Given the description of an element on the screen output the (x, y) to click on. 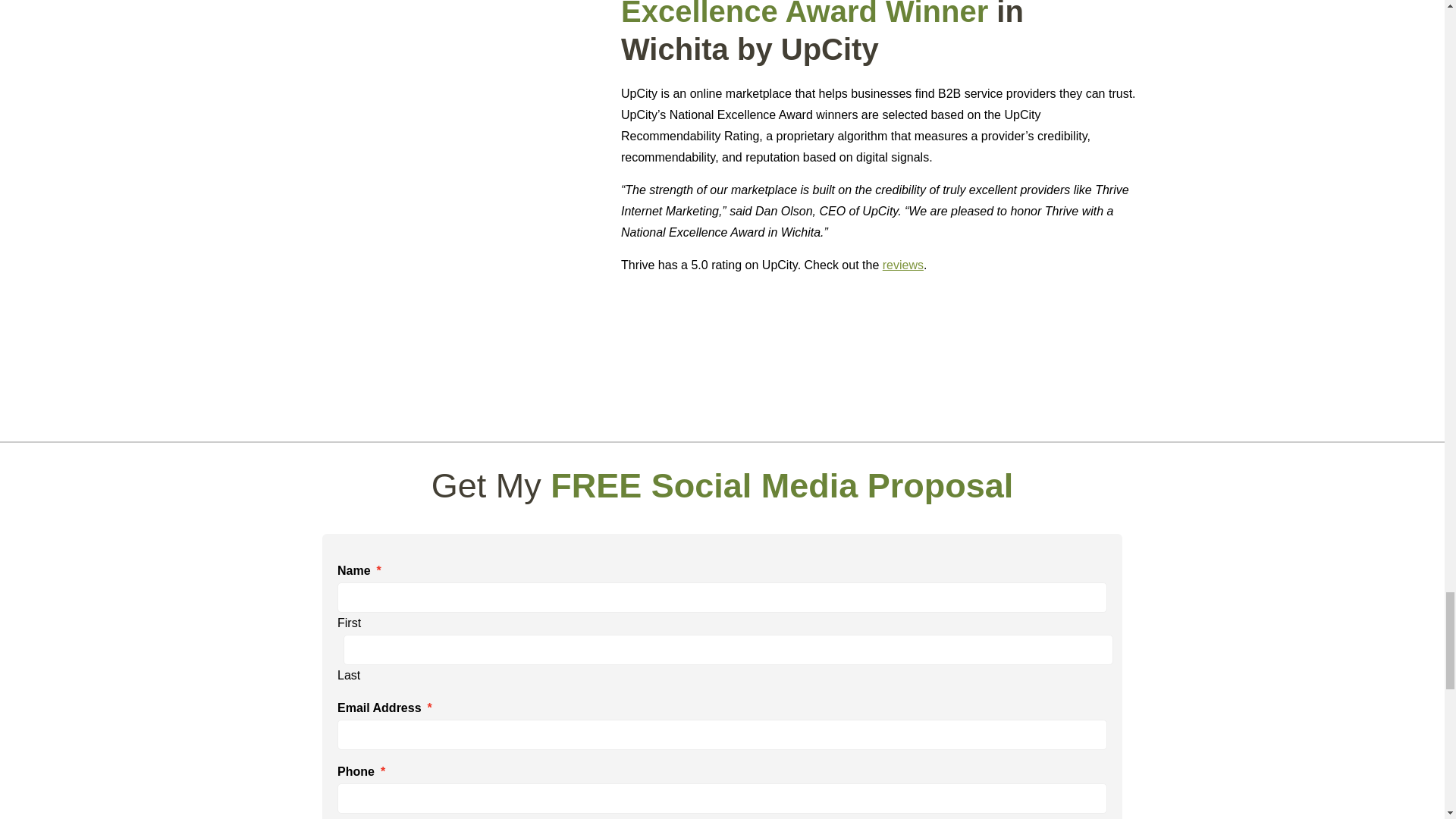
awardimage2020 (716, 356)
Thrive-National-Excellence-Awards-2021-in-United-States.png (456, 116)
